Given the description of an element on the screen output the (x, y) to click on. 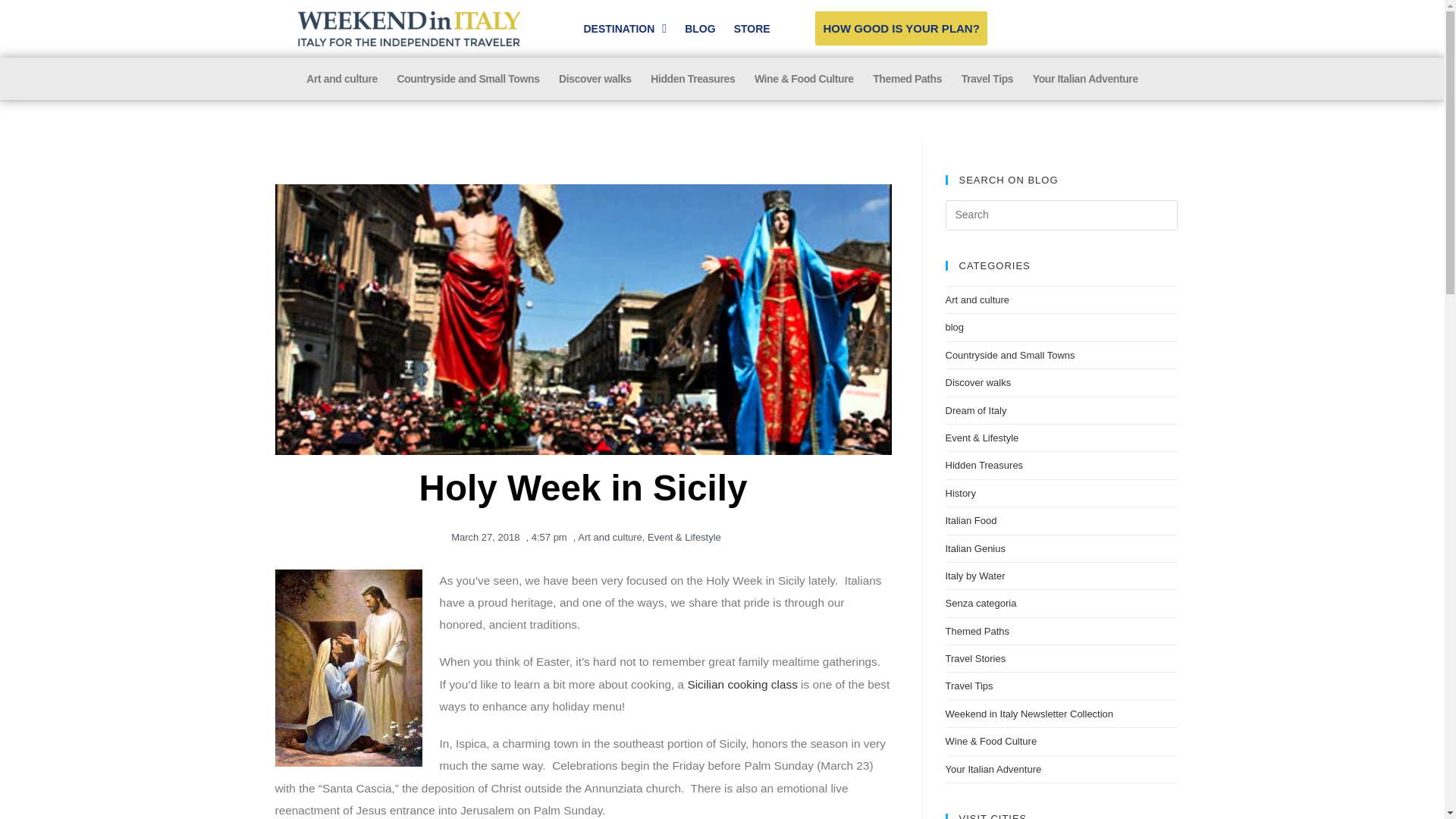
Countryside and Small Towns (468, 78)
BLOG (699, 28)
Hidden Treasures (693, 78)
HOW GOOD IS YOUR PLAN? (901, 28)
Travel Tips (987, 78)
STORE (751, 28)
Discover walks (595, 78)
Art and culture (341, 78)
Your Italian Adventure (1085, 78)
DESTINATION (626, 28)
